Given the description of an element on the screen output the (x, y) to click on. 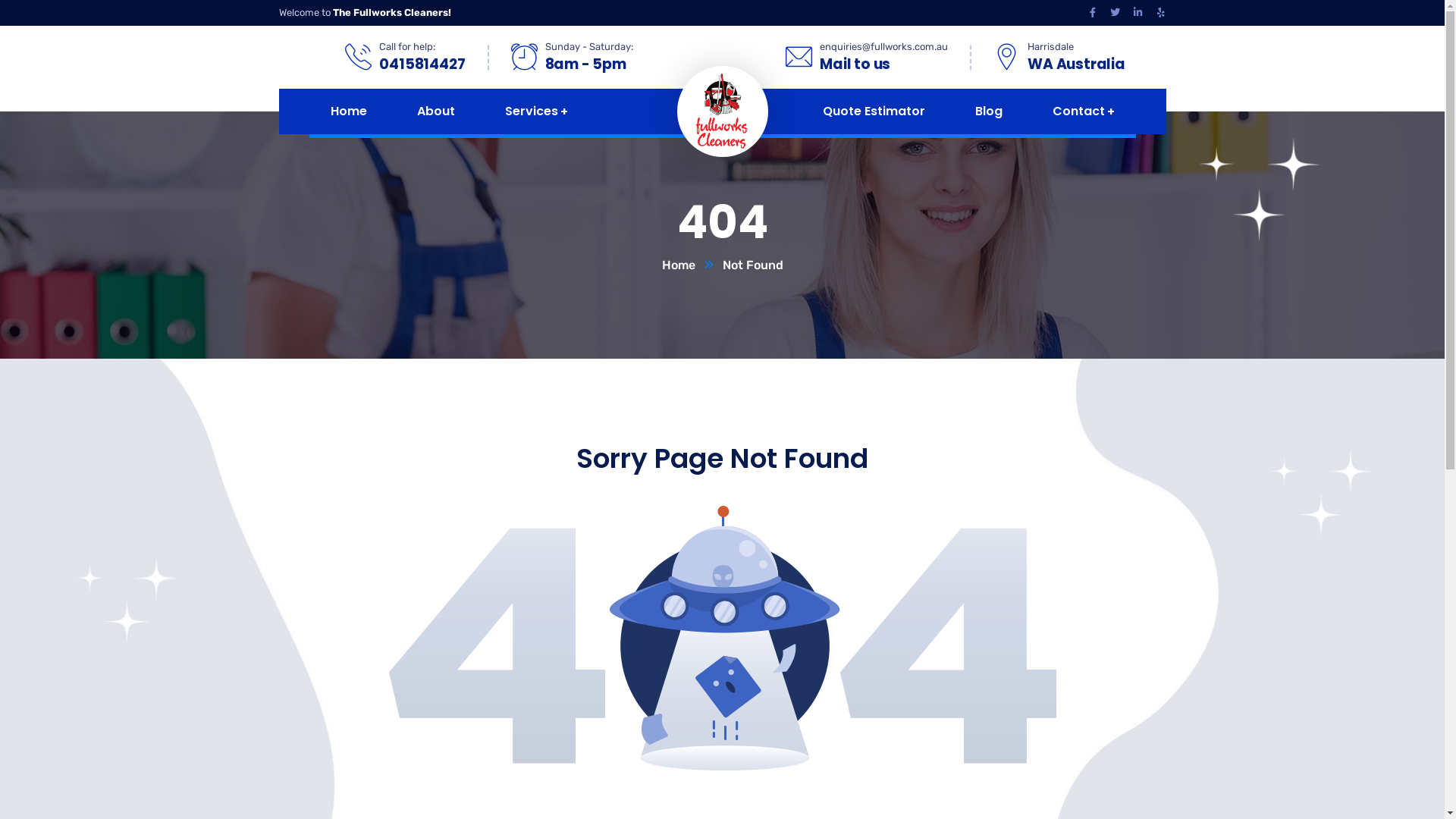
About Element type: text (436, 111)
Home Element type: text (691, 264)
Blog Element type: text (988, 111)
Services Element type: text (536, 111)
Fullworks Cleaners Element type: hover (722, 110)
Home Element type: text (348, 111)
Contact Element type: text (1083, 111)
Quote Estimator Element type: text (873, 111)
